Given the description of an element on the screen output the (x, y) to click on. 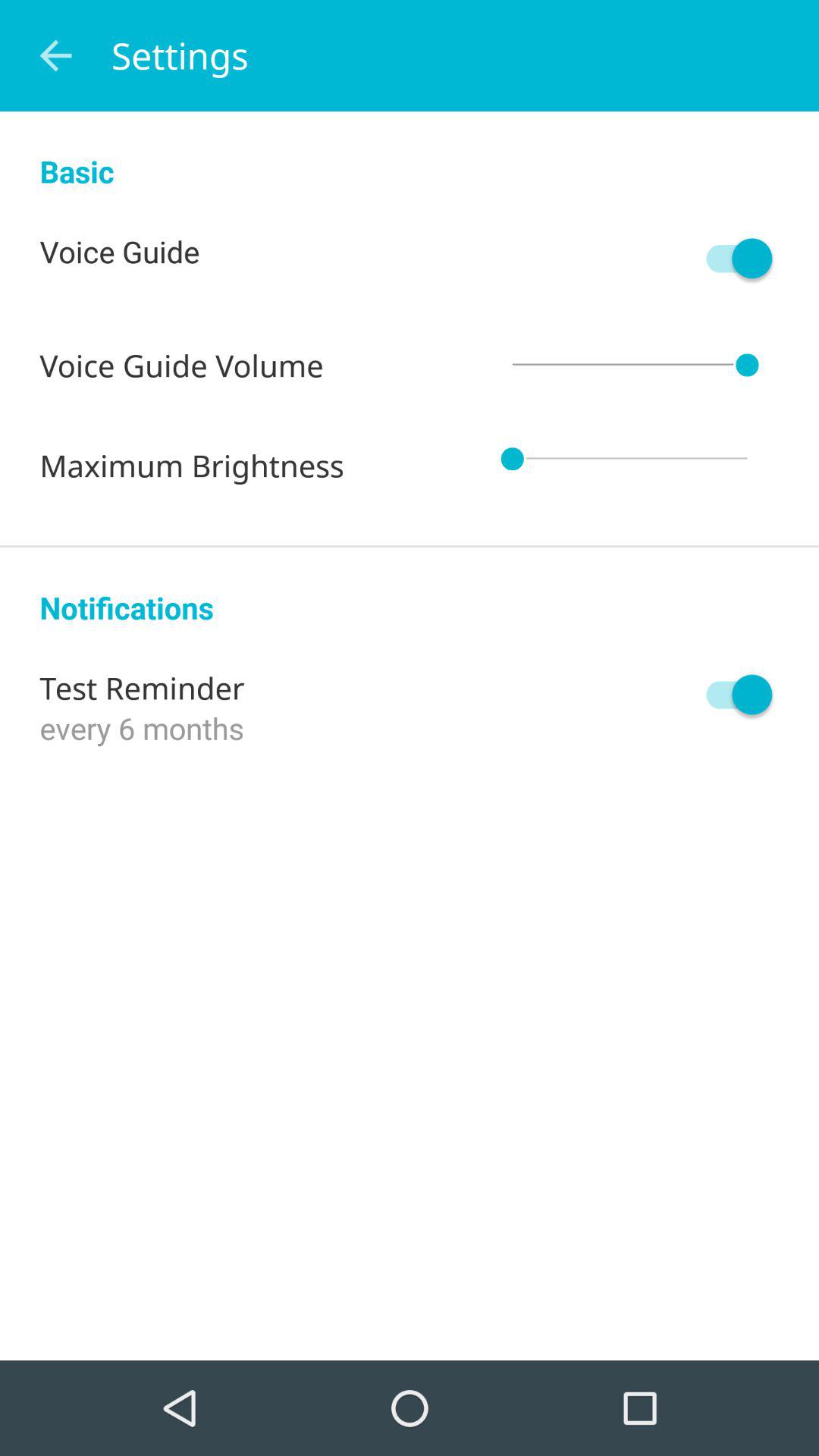
tap item on the right (731, 694)
